Given the description of an element on the screen output the (x, y) to click on. 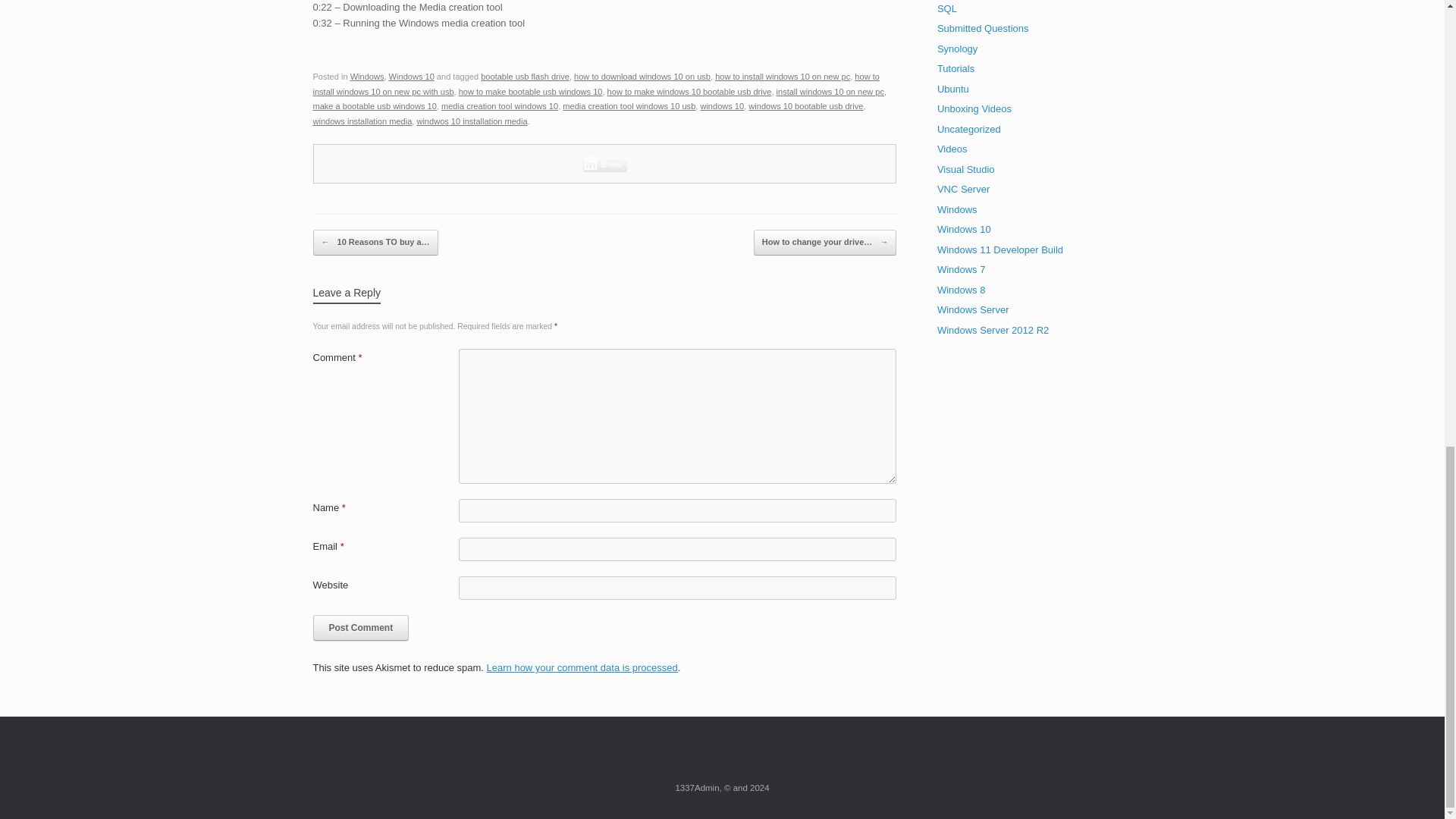
Learn how your comment data is processed (582, 667)
Post Comment (361, 627)
how to install windows 10 on new pc (782, 76)
Windows (367, 76)
Share (604, 163)
install windows 10 on new pc (829, 91)
Windows 10 (410, 76)
how to make bootable usb windows 10 (530, 91)
bootable usb flash drive (524, 76)
windows installation media (362, 121)
